Given the description of an element on the screen output the (x, y) to click on. 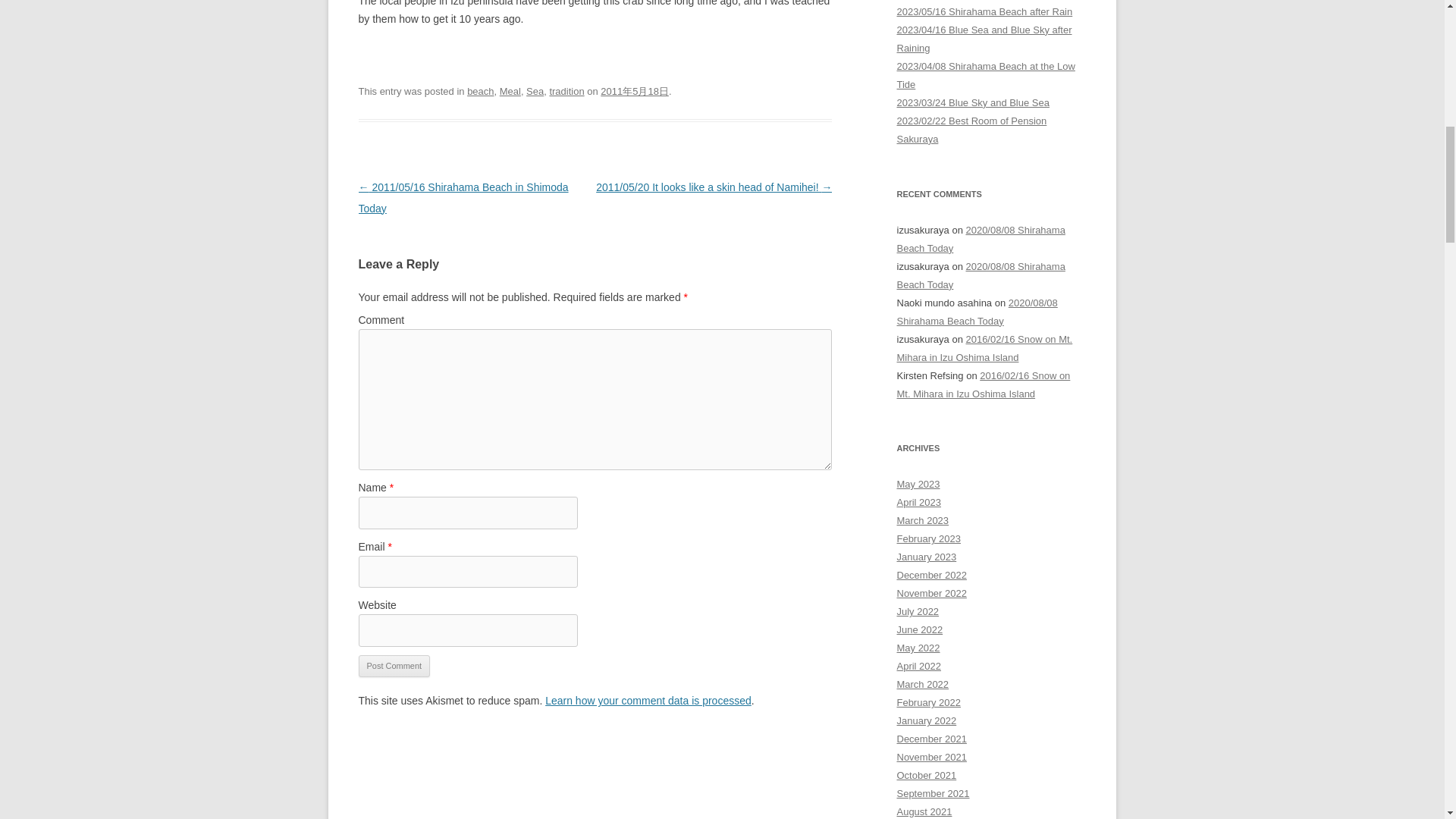
Learn how your comment data is processed (647, 700)
Post Comment (393, 666)
Post Comment (393, 666)
beach (480, 91)
tradition (565, 91)
11:27 PM (633, 91)
Meal (510, 91)
Sea (534, 91)
